Given the description of an element on the screen output the (x, y) to click on. 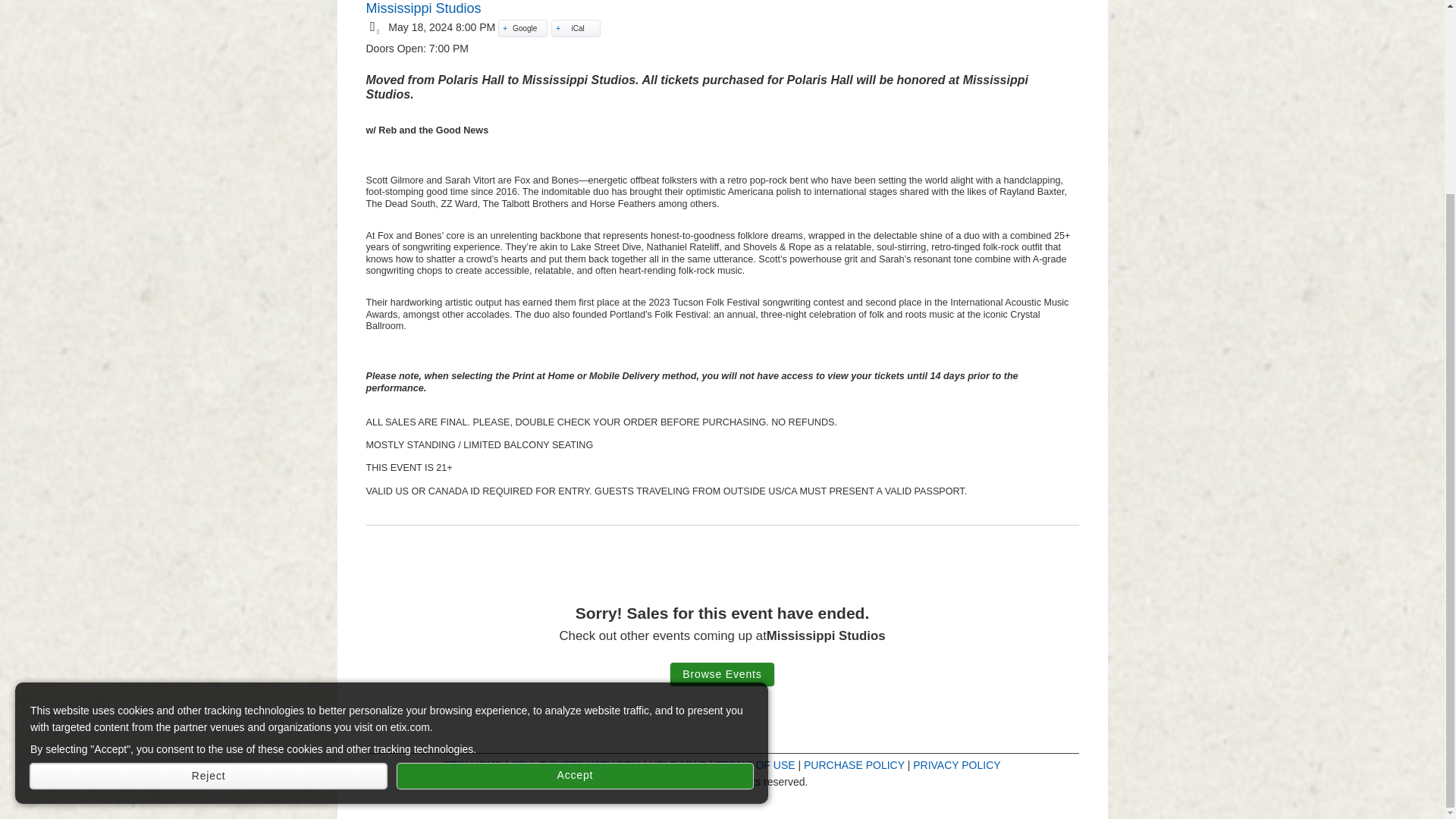
PRIVACY POLICY (956, 765)
Accept (574, 531)
ETIX HOME (473, 765)
SELL TICKETS WITH ETIX (575, 765)
Reject (208, 531)
PURCHASE POLICY (853, 765)
TERMS OF USE (755, 765)
Mississippi Studios (422, 7)
Browse Events (721, 674)
